Given the description of an element on the screen output the (x, y) to click on. 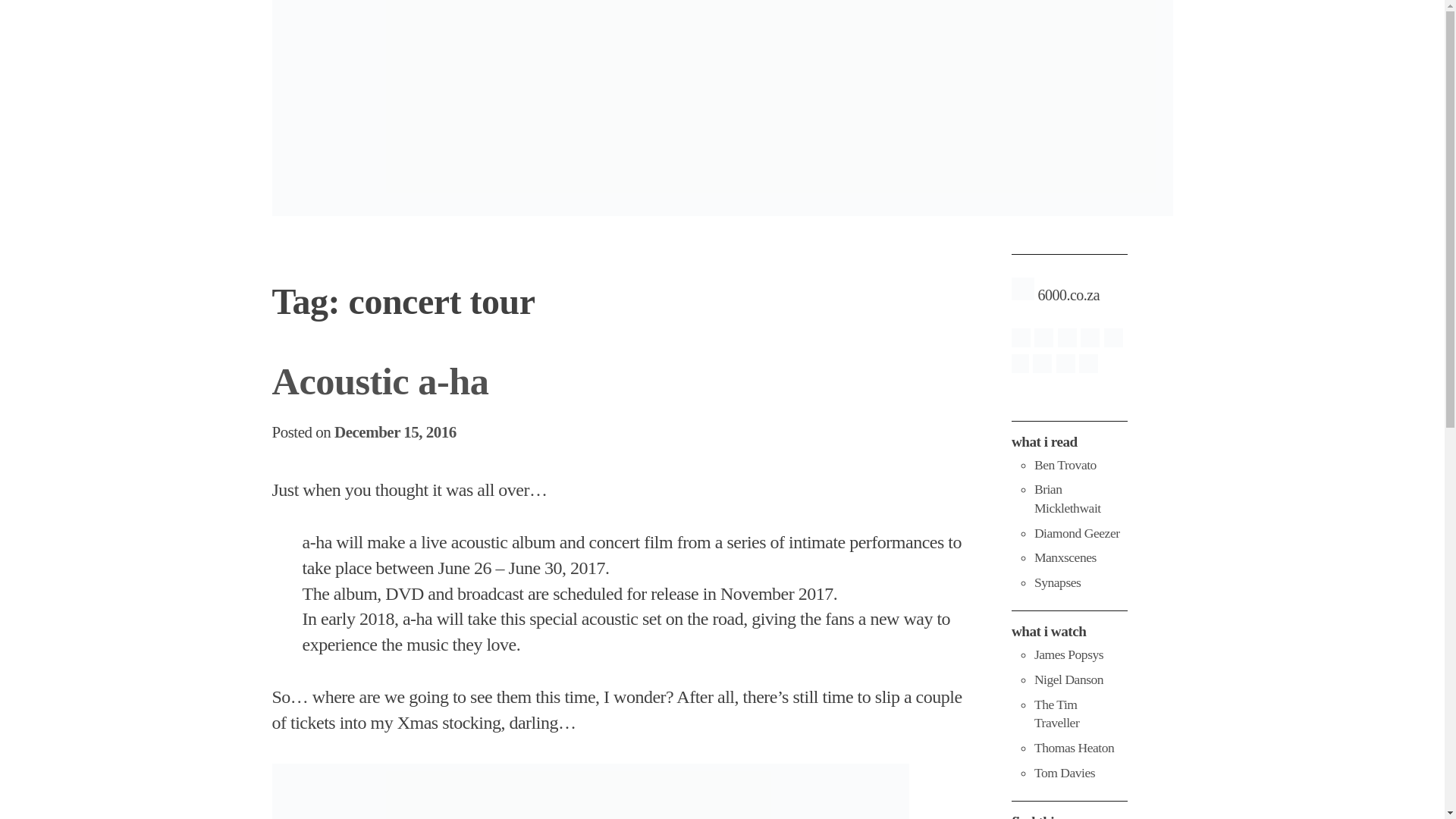
Geoguessr God (1063, 772)
December 15, 2016 (395, 432)
Ben Trovato (1064, 464)
jacques talks mostly sense (1057, 581)
Acoustic a-ha (378, 381)
Manxscenes (1064, 557)
Diamond Geezer (1076, 532)
Daily tales of London (1076, 532)
Photography advice from the UK (1068, 654)
